Given the description of an element on the screen output the (x, y) to click on. 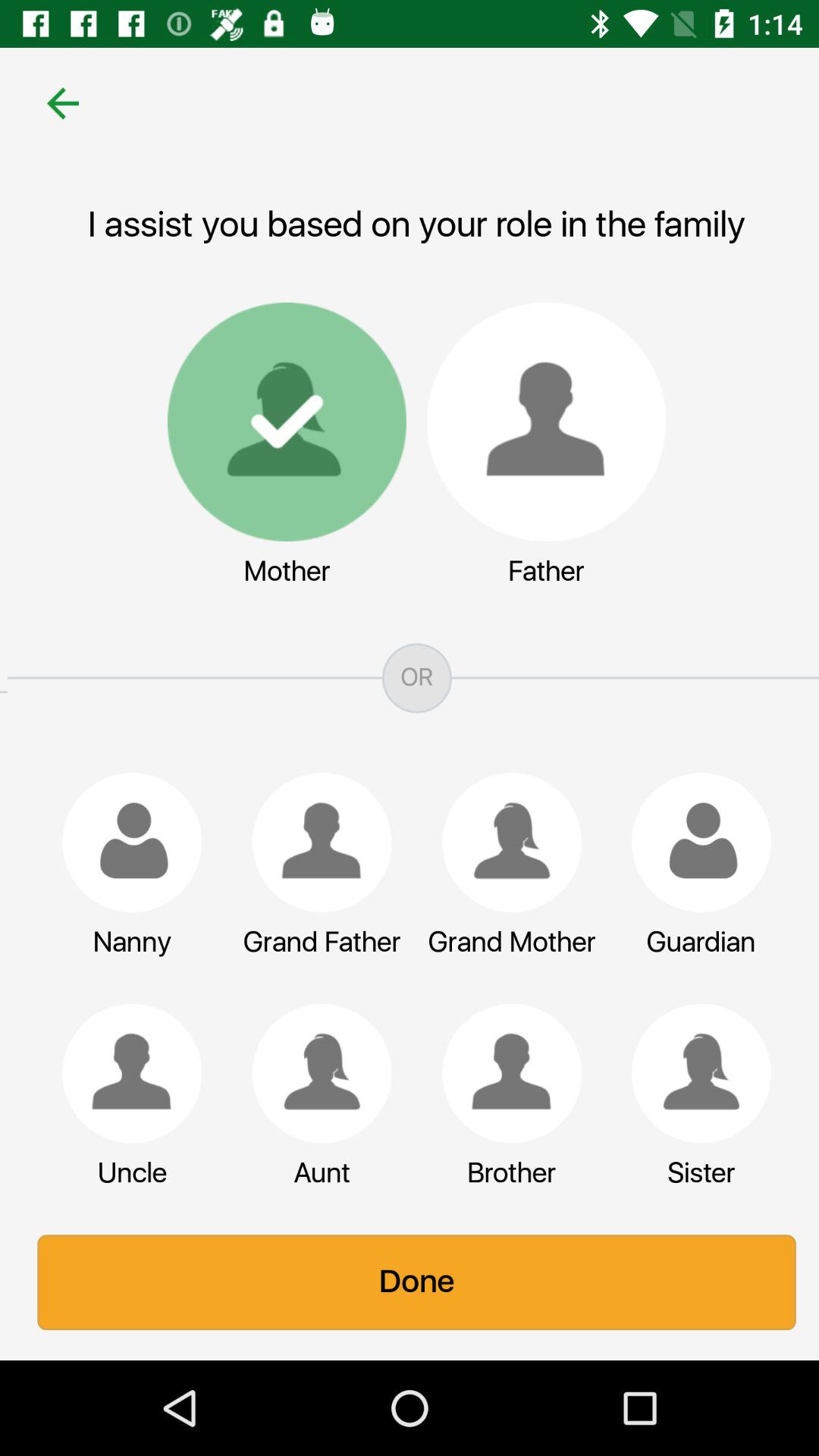
open item to the left of grand father item (124, 842)
